Given the description of an element on the screen output the (x, y) to click on. 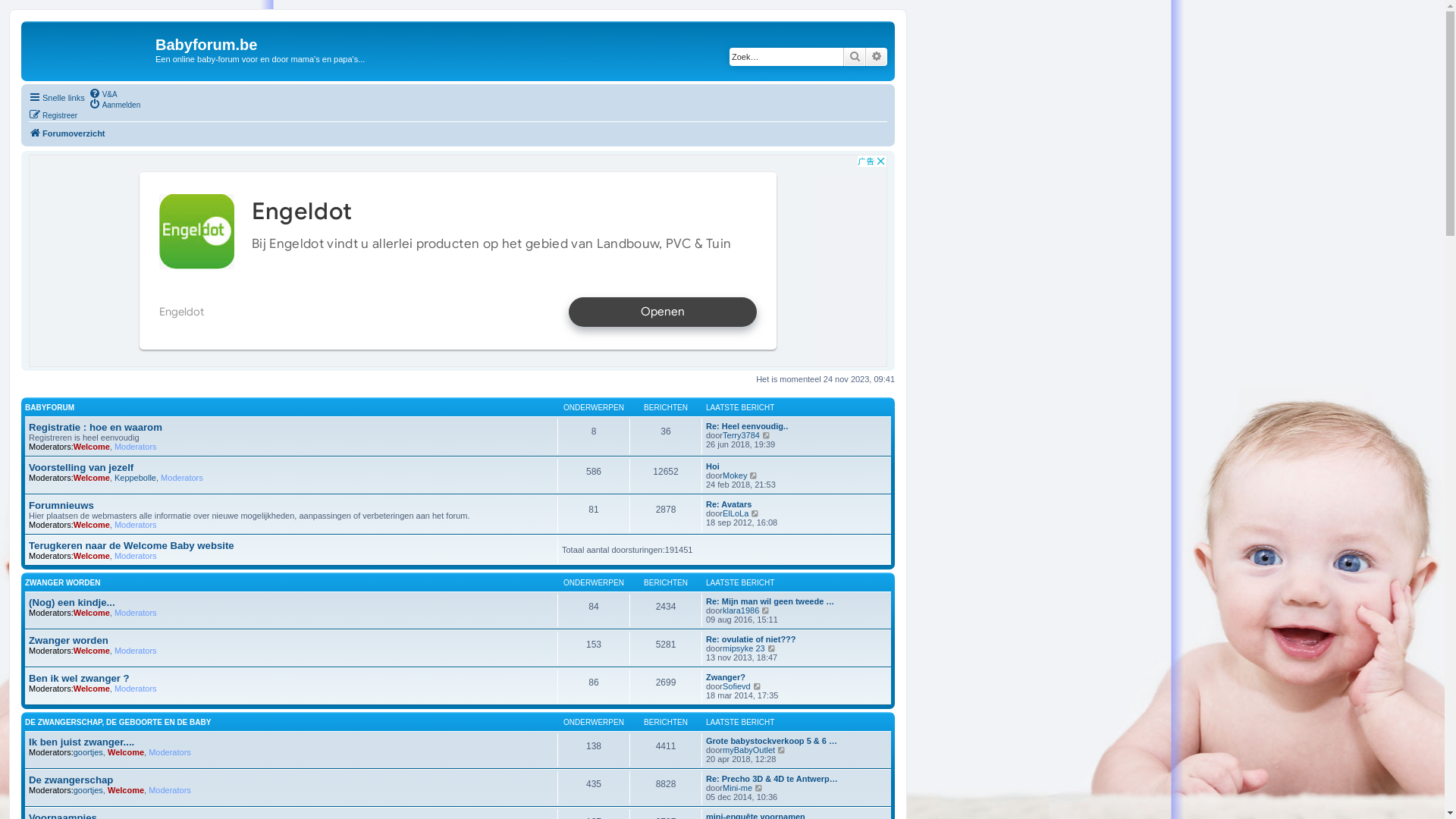
mipsyke 23 Element type: text (743, 647)
Sofievd Element type: text (736, 685)
Mini-me Element type: text (737, 787)
Bekijk laatste bericht Element type: text (755, 512)
V&A Element type: text (102, 92)
Moderators Element type: text (135, 612)
BABYFORUM Element type: text (49, 407)
Welcome Element type: text (91, 524)
Welcome Element type: text (91, 688)
Moderators Element type: text (135, 446)
Ik ben juist zwanger.... Element type: text (81, 741)
(Nog) een kindje... Element type: text (71, 602)
Welcome Element type: text (91, 612)
Re: Avatars Element type: text (728, 503)
Bekijk laatste bericht Element type: text (759, 787)
Moderators Element type: text (135, 688)
ZWANGER WORDEN Element type: text (62, 582)
Terugkeren naar de Welcome Baby website Element type: text (131, 545)
Voorstelling van jezelf Element type: text (80, 467)
Moderators Element type: text (169, 789)
Uitgebreid zoeken Element type: text (876, 56)
myBabyOutlet Element type: text (748, 749)
Zoek op sleutelwoorden Element type: hover (786, 56)
Bekijk laatste bericht Element type: text (754, 475)
Moderators Element type: text (135, 650)
Advertisement Element type: hover (457, 260)
Forumoverzicht Element type: hover (90, 49)
ElLoLa Element type: text (735, 512)
Terry3784 Element type: text (740, 434)
Zoek Element type: text (854, 56)
Welcome Element type: text (91, 650)
klara1986 Element type: text (740, 610)
Registratie : hoe en waarom Element type: text (95, 427)
Snelle links Element type: text (56, 97)
Welcome Element type: text (91, 446)
Keppebolle Element type: text (135, 477)
goortjes Element type: text (88, 751)
Moderators Element type: text (135, 555)
DE ZWANGERSCHAP, DE GEBOORTE EN DE BABY Element type: text (117, 722)
Moderators Element type: text (135, 524)
Bekijk laatste bericht Element type: text (766, 434)
De zwangerschap Element type: text (70, 779)
Forumoverzicht Element type: text (66, 133)
Bekijk laatste bericht Element type: text (782, 749)
Hoi Element type: text (712, 465)
Moderators Element type: text (181, 477)
goortjes Element type: text (88, 789)
Ben ik wel zwanger ? Element type: text (78, 678)
Registreer Element type: text (52, 114)
Welcome Element type: text (125, 789)
Bekijk laatste bericht Element type: text (772, 647)
Aanmelden Element type: text (114, 103)
Zwanger? Element type: text (725, 676)
Re: ovulatie of niet??? Element type: text (751, 638)
Welcome Element type: text (91, 555)
Bekijk laatste bericht Element type: text (757, 685)
Mokey Element type: text (734, 475)
Bekijk laatste bericht Element type: text (766, 610)
Moderators Element type: text (169, 751)
Welcome Element type: text (125, 751)
Forumnieuws Element type: text (61, 505)
Re: Heel eenvoudig.. Element type: text (746, 425)
Zwanger worden Element type: text (68, 640)
Welcome Element type: text (91, 477)
